Given the description of an element on the screen output the (x, y) to click on. 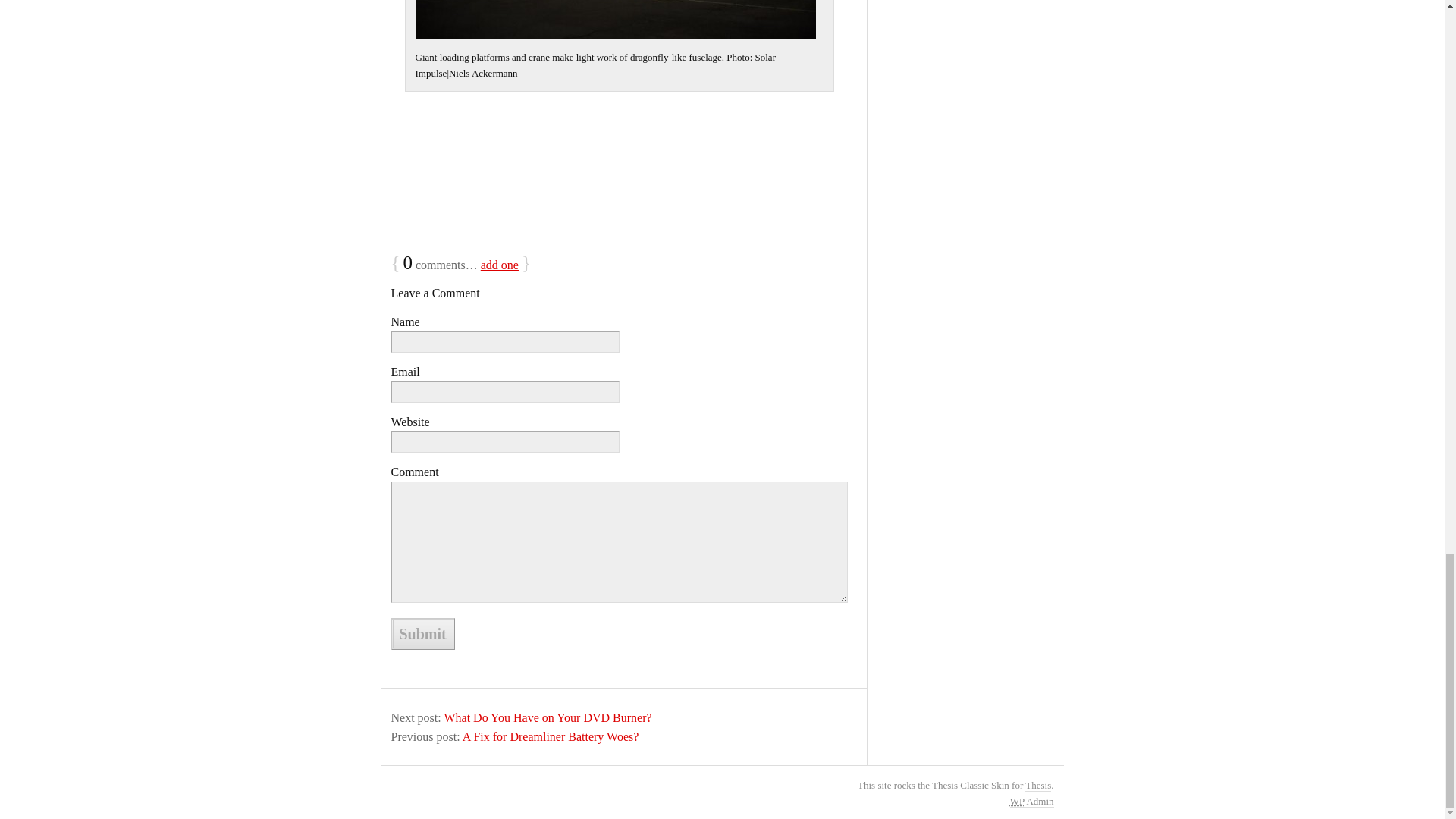
A Fix for Dreamliner Battery Woes? (551, 736)
AcrossAmerica-LoadinginPayerne2 (614, 19)
WordPress (1017, 800)
Submit (422, 634)
Submit (422, 634)
What Do You Have on Your DVD Burner? (547, 717)
add one (499, 264)
